Given the description of an element on the screen output the (x, y) to click on. 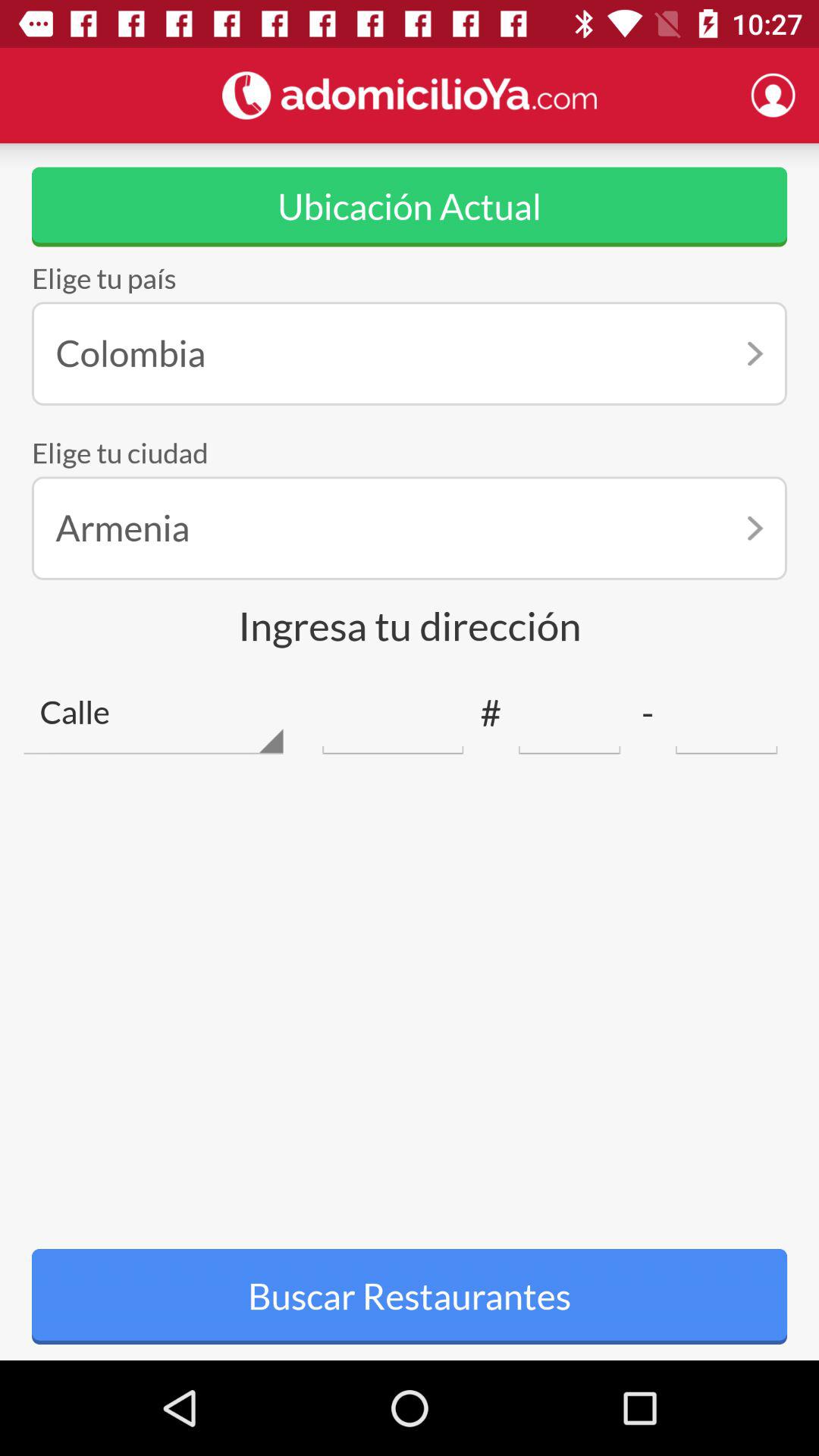
profile picture (773, 95)
